Given the description of an element on the screen output the (x, y) to click on. 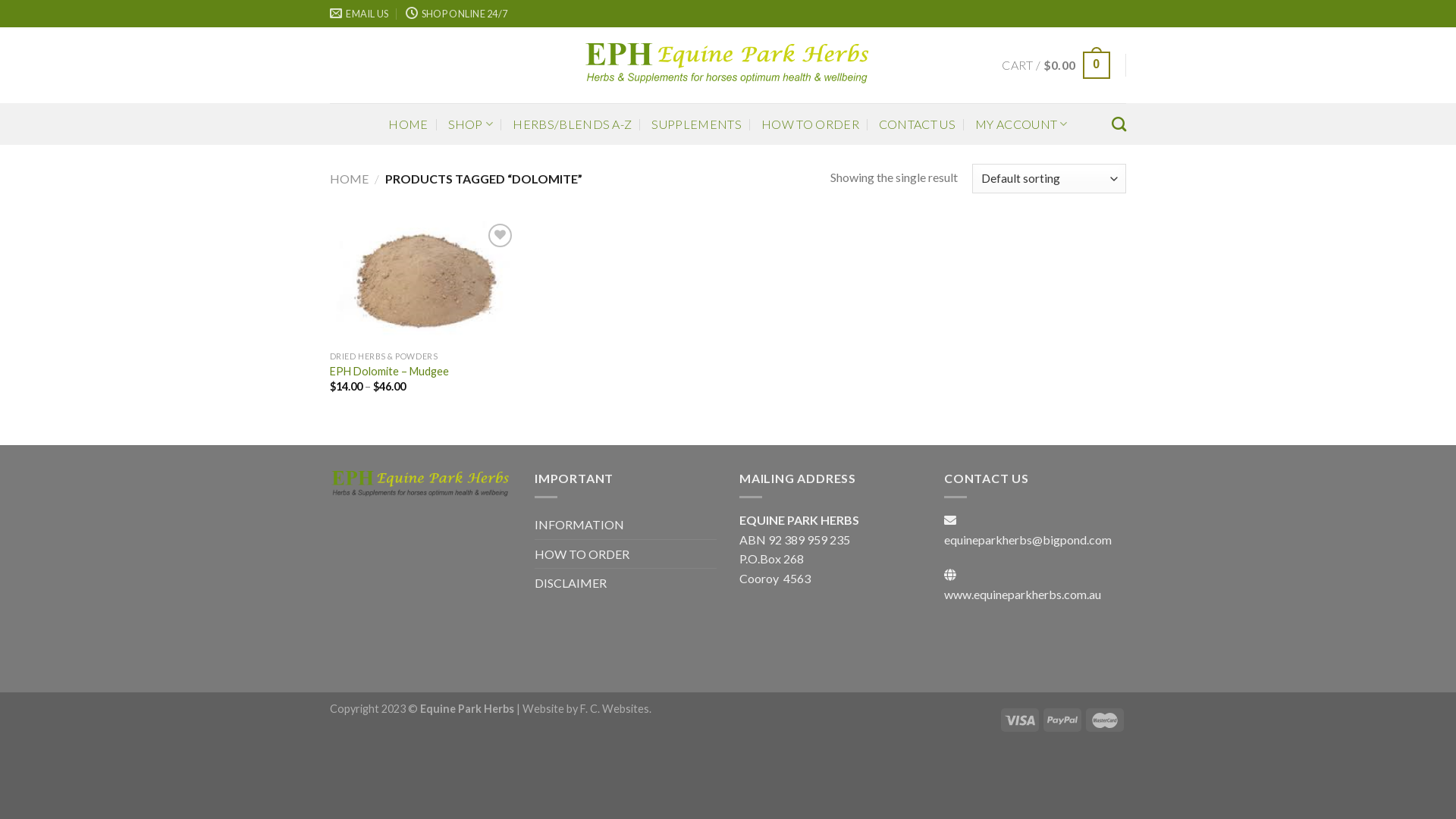
INFORMATION Element type: text (579, 524)
F. C. Websites Element type: text (614, 708)
CART / $0.00
0 Element type: text (1055, 65)
HOME Element type: text (407, 124)
HOW TO ORDER Element type: text (810, 124)
SUPPLEMENTS Element type: text (696, 124)
DISCLAIMER Element type: text (570, 582)
CONTACT US Element type: text (916, 124)
HOW TO ORDER Element type: text (581, 553)
SHOP Element type: text (470, 123)
equineparkherbs@bigpond.com Element type: text (1027, 539)
HOME Element type: text (348, 178)
HERBS/BLENDS A-Z Element type: text (571, 124)
SHOP ONLINE 24/7 Element type: text (456, 13)
www.equineparkherbs.com.au Element type: text (1022, 593)
MY ACCOUNT Element type: text (1021, 123)
EMAIL US Element type: text (358, 13)
